Given the description of an element on the screen output the (x, y) to click on. 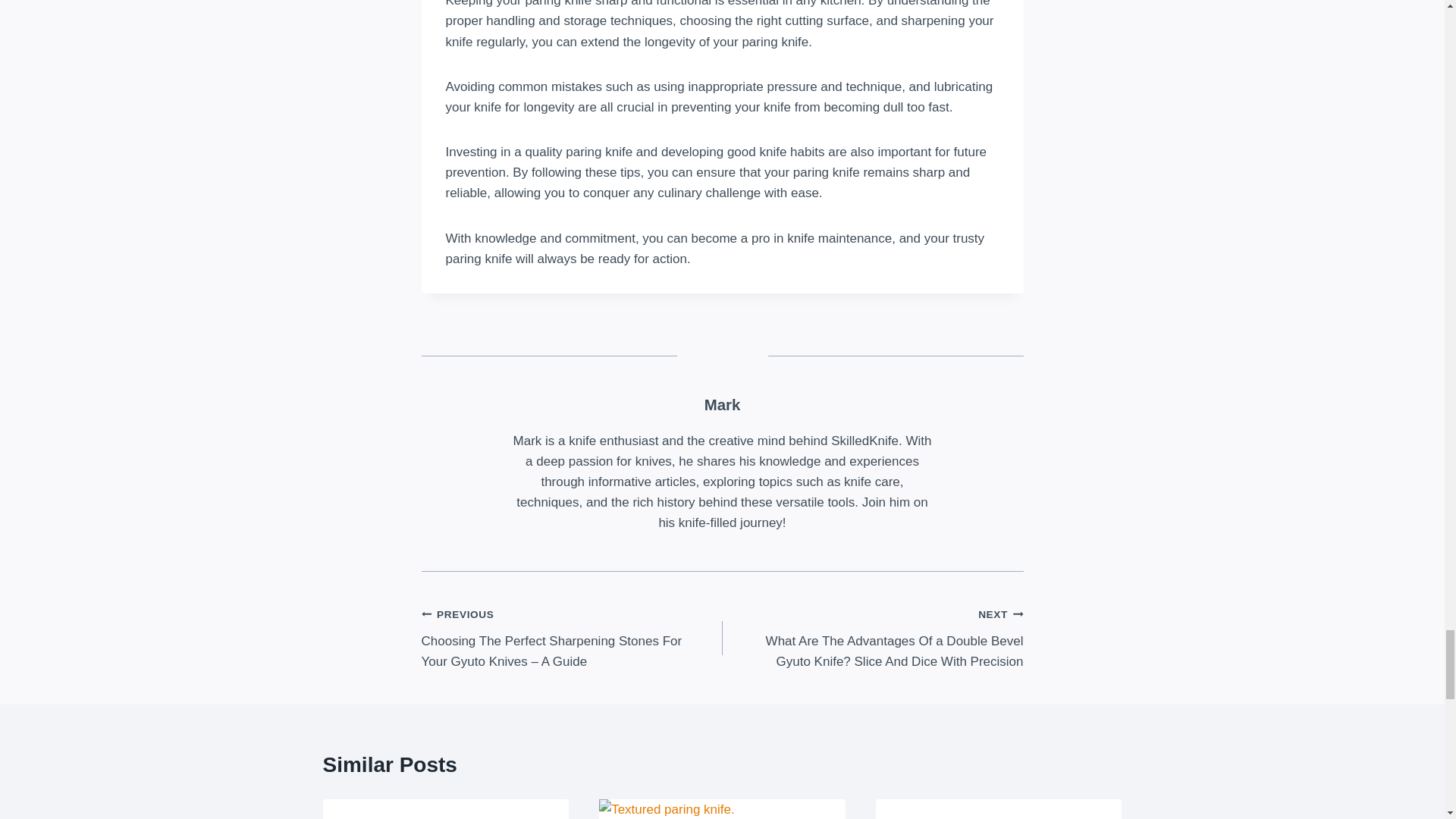
Posts by Mark (722, 404)
Mark (722, 404)
